Given the description of an element on the screen output the (x, y) to click on. 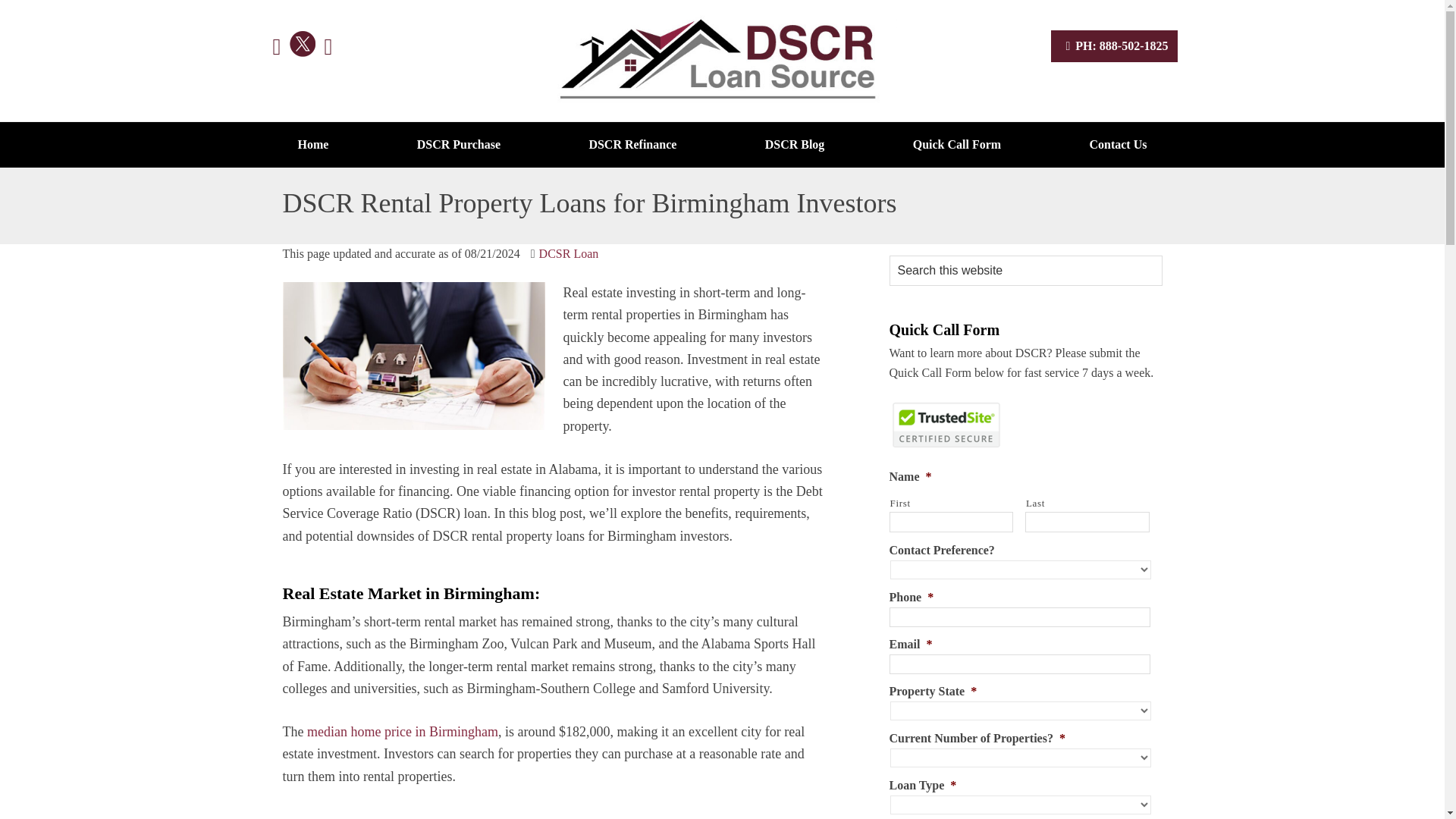
median home price in Birmingham (402, 731)
Search (1170, 258)
DSCR Blog (794, 144)
DSCR Purchase (458, 144)
DCSR Loan (568, 253)
DSCR Refinance (632, 144)
Search (1170, 258)
Home (312, 144)
Quick Call Form (957, 144)
DSCR Loan Source (719, 60)
